Given the description of an element on the screen output the (x, y) to click on. 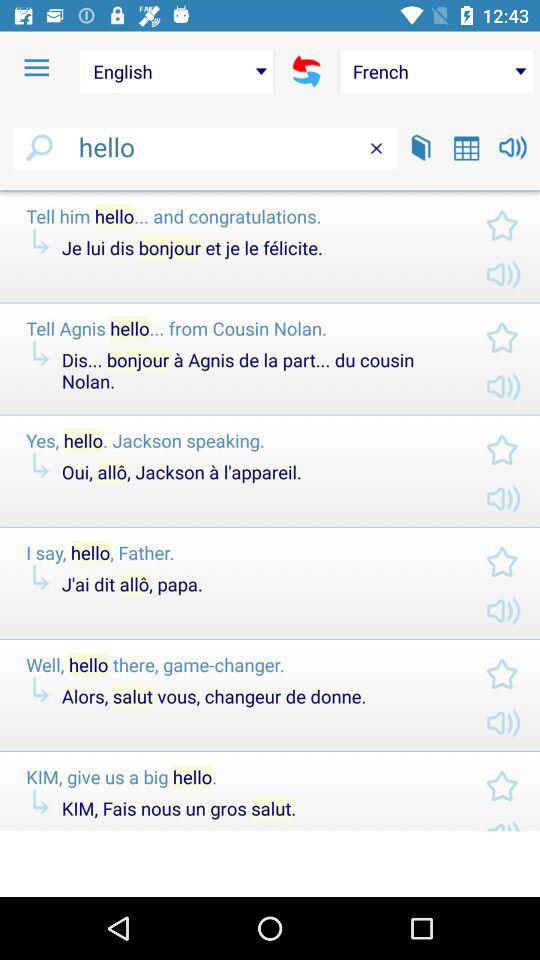
erase the phrase (376, 148)
